Given the description of an element on the screen output the (x, y) to click on. 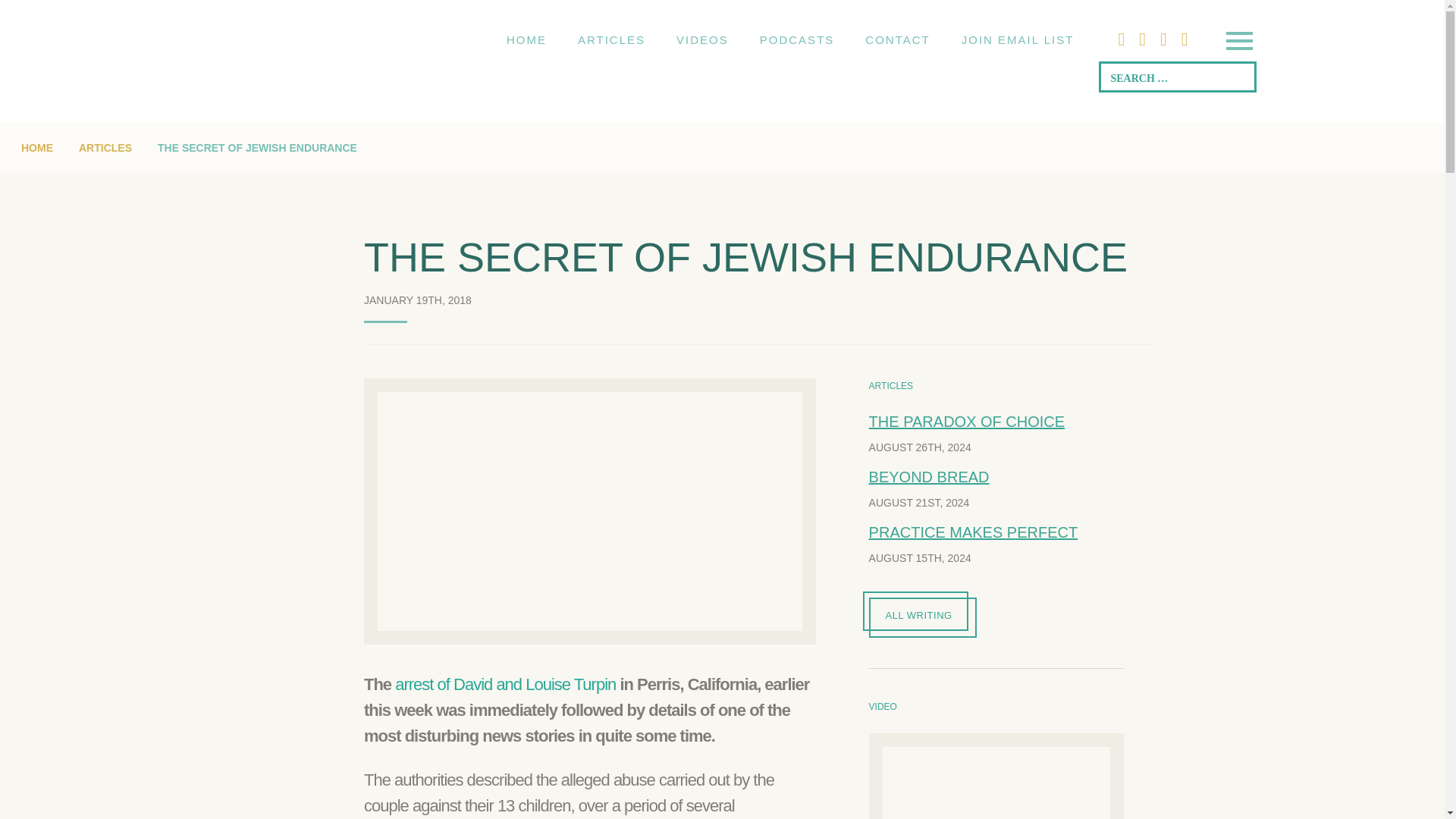
Rabbi Pini Dunner (310, 40)
HOME (36, 147)
ALL WRITING (922, 617)
PODCASTS (796, 40)
CONTACT (897, 40)
arrest of David and Louise Turpin (504, 683)
JOIN EMAIL LIST (1017, 40)
HOME (526, 40)
BEYOND BREAD (929, 476)
ARTICLES (611, 40)
